Given the description of an element on the screen output the (x, y) to click on. 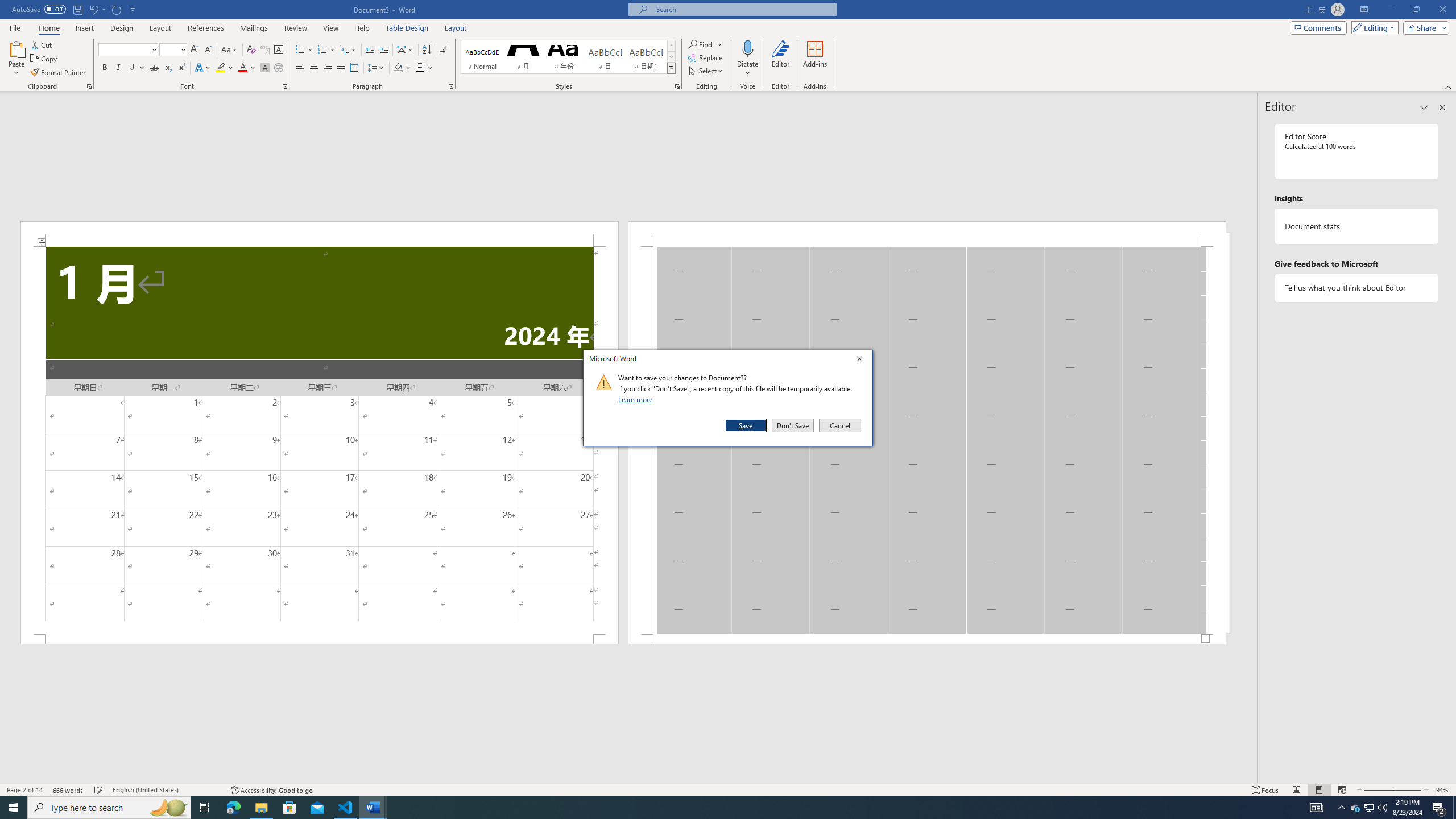
Table Design (407, 28)
Character Shading (264, 67)
Increase Indent (383, 49)
Select (705, 69)
Row up (670, 45)
Task View (204, 807)
Cut (42, 44)
